Given the description of an element on the screen output the (x, y) to click on. 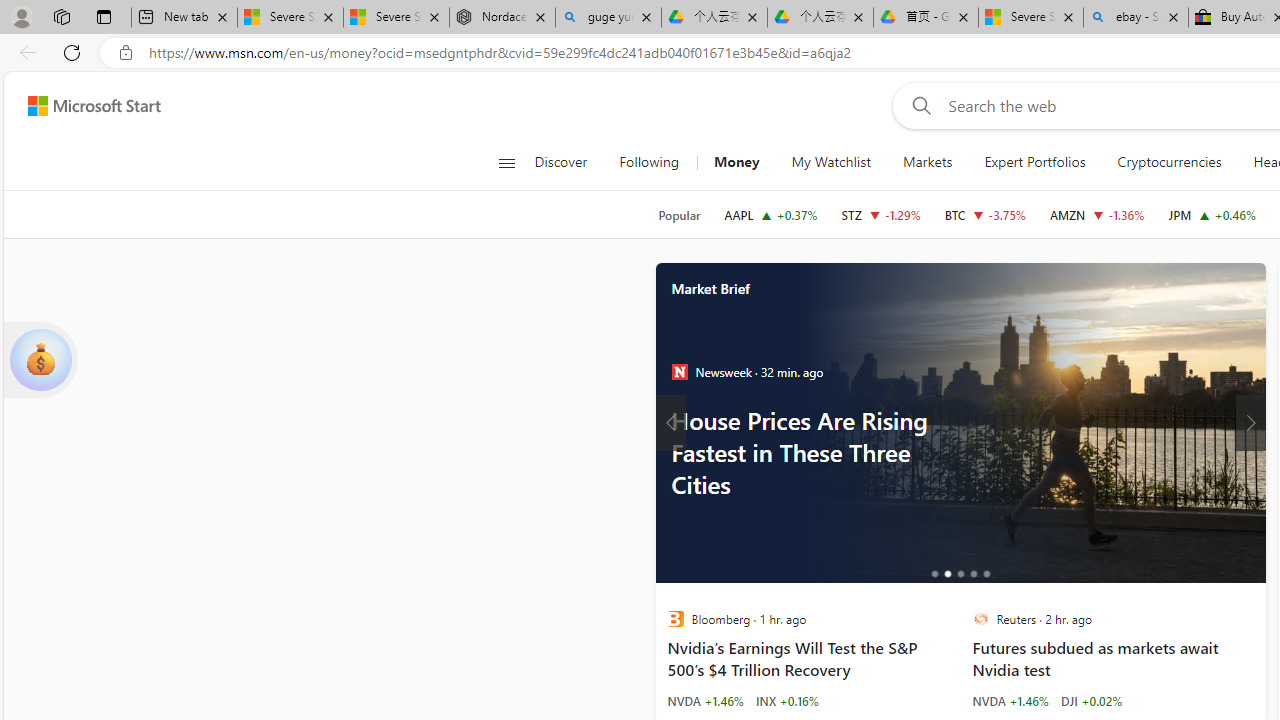
AAPL APPLE INC. increase 228.03 +0.85 +0.37% (770, 214)
NVDA +1.46% (1010, 700)
Skip to footer (82, 105)
Markets (926, 162)
show card (40, 359)
Cryptocurrencies (1169, 162)
AMZN AMAZON.COM, INC. decrease 173.12 -2.38 -1.36% (1096, 214)
Expert Portfolios (1034, 162)
